Given the description of an element on the screen output the (x, y) to click on. 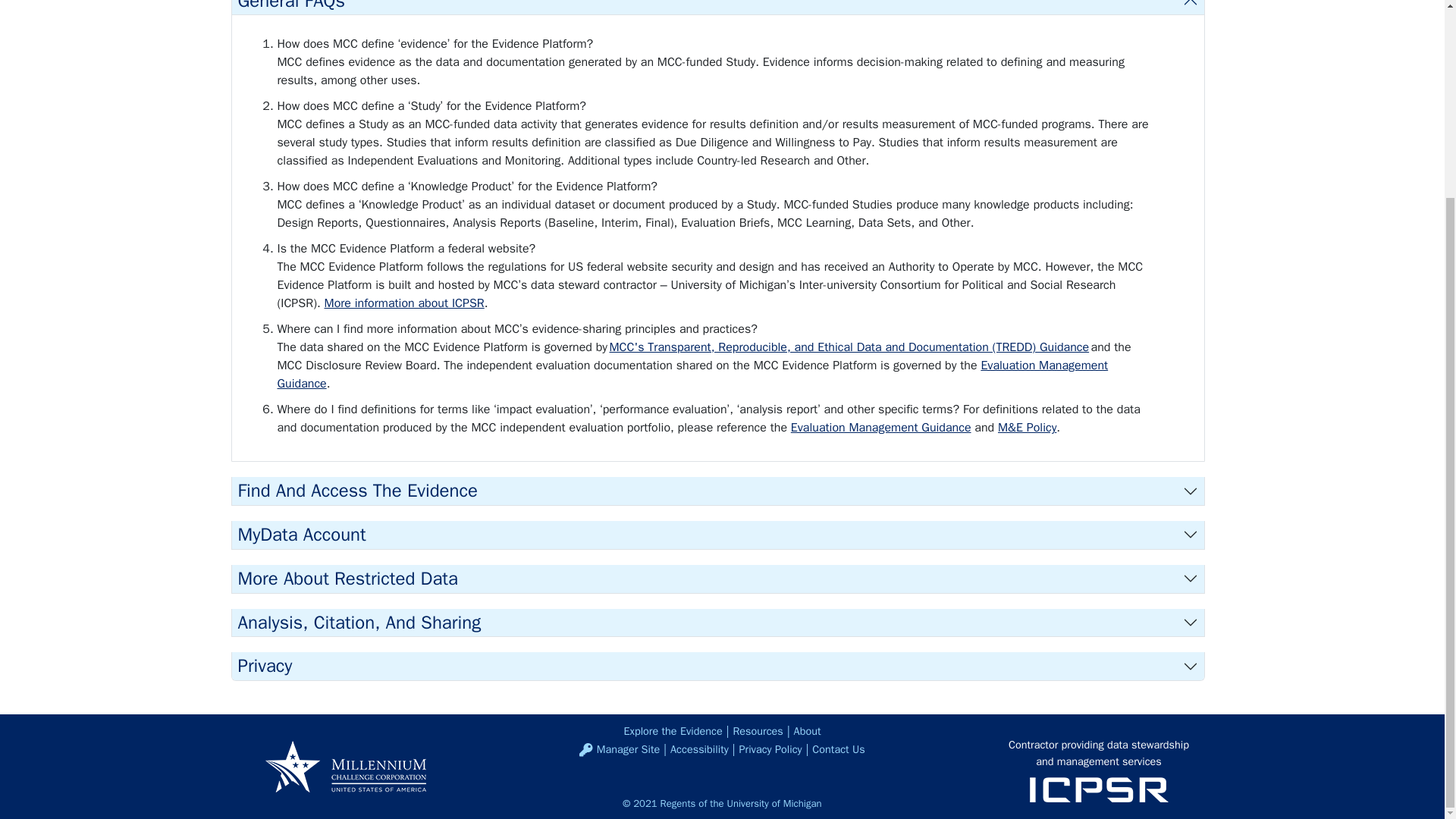
More About Restricted Data (717, 578)
Find And Access The Evidence (717, 490)
Evaluation Management Guidance (880, 427)
More information about ICPSR (404, 303)
Evaluation Management Guidance (693, 374)
General FAQs (717, 7)
MyData Account (717, 534)
